Given the description of an element on the screen output the (x, y) to click on. 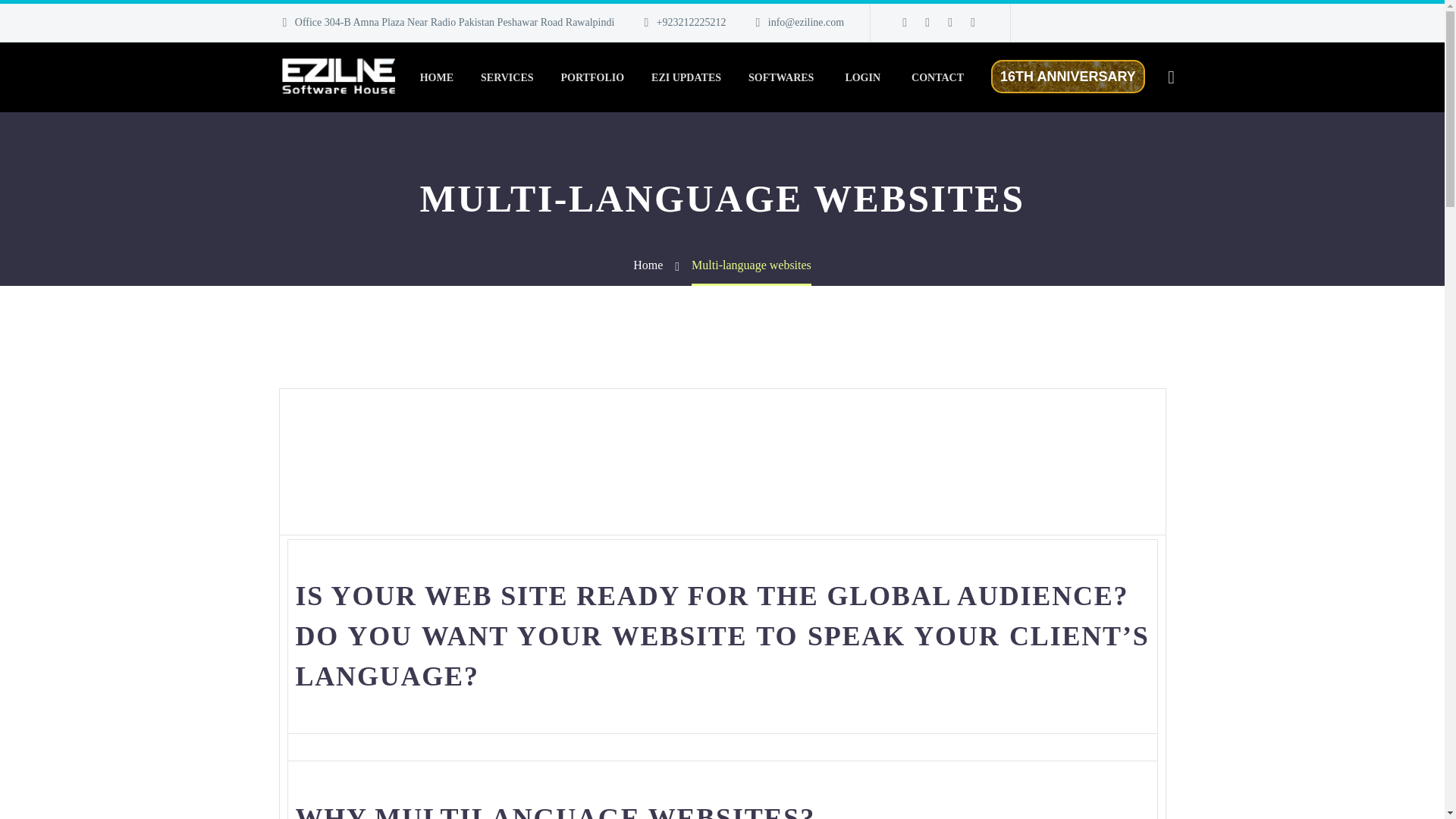
Facebook (904, 22)
LinkedIn (927, 22)
HOME (436, 76)
Twitter (949, 22)
PORTFOLIO (593, 76)
SERVICES (506, 76)
YouTube (972, 22)
